Given the description of an element on the screen output the (x, y) to click on. 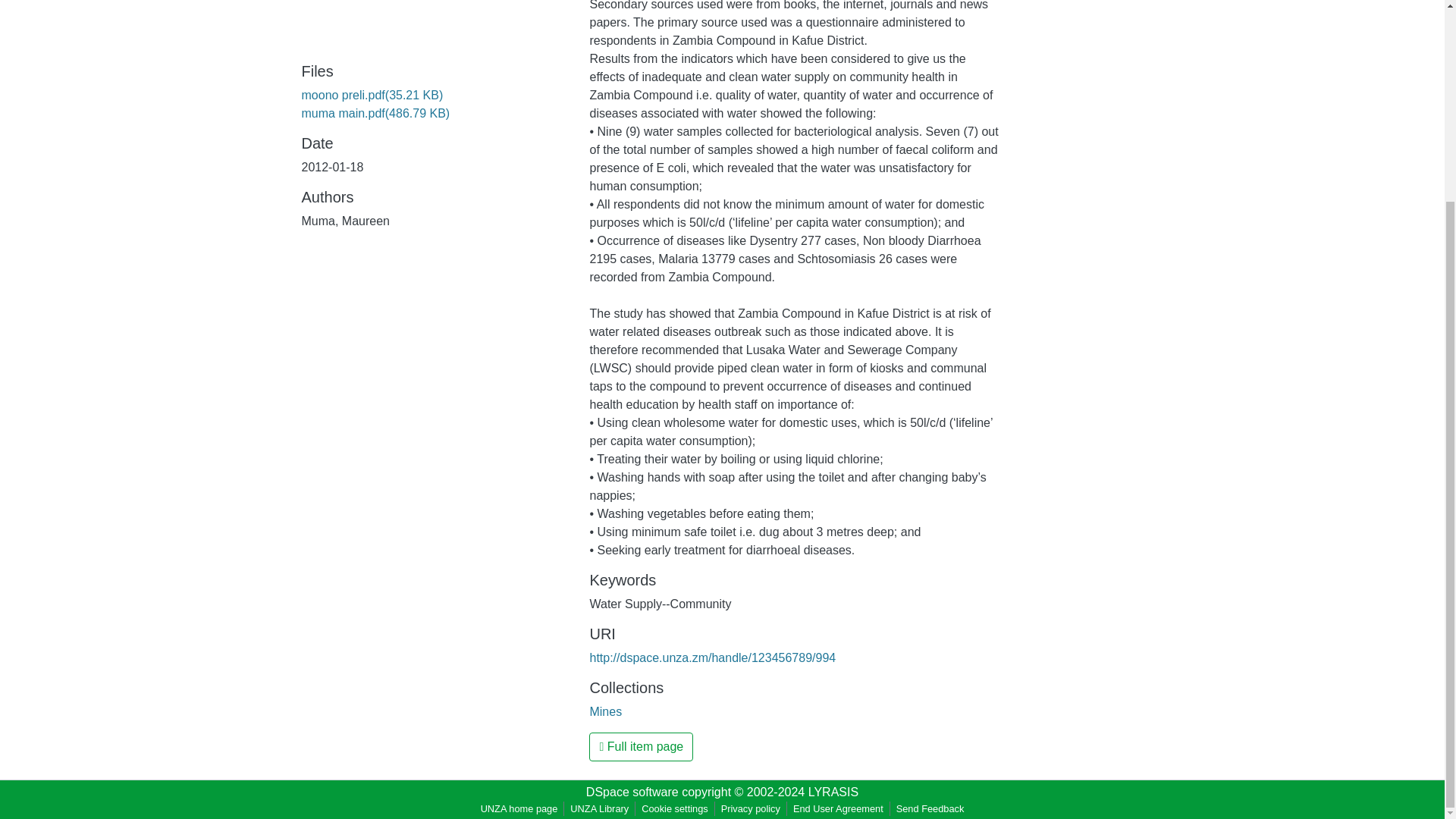
End User Agreement (838, 808)
Send Feedback (930, 808)
Mines (605, 711)
UNZA home page (519, 808)
Full item page (641, 746)
DSpace software (632, 791)
Privacy policy (750, 808)
LYRASIS (833, 791)
UNZA Library (599, 808)
Cookie settings (674, 808)
